Given the description of an element on the screen output the (x, y) to click on. 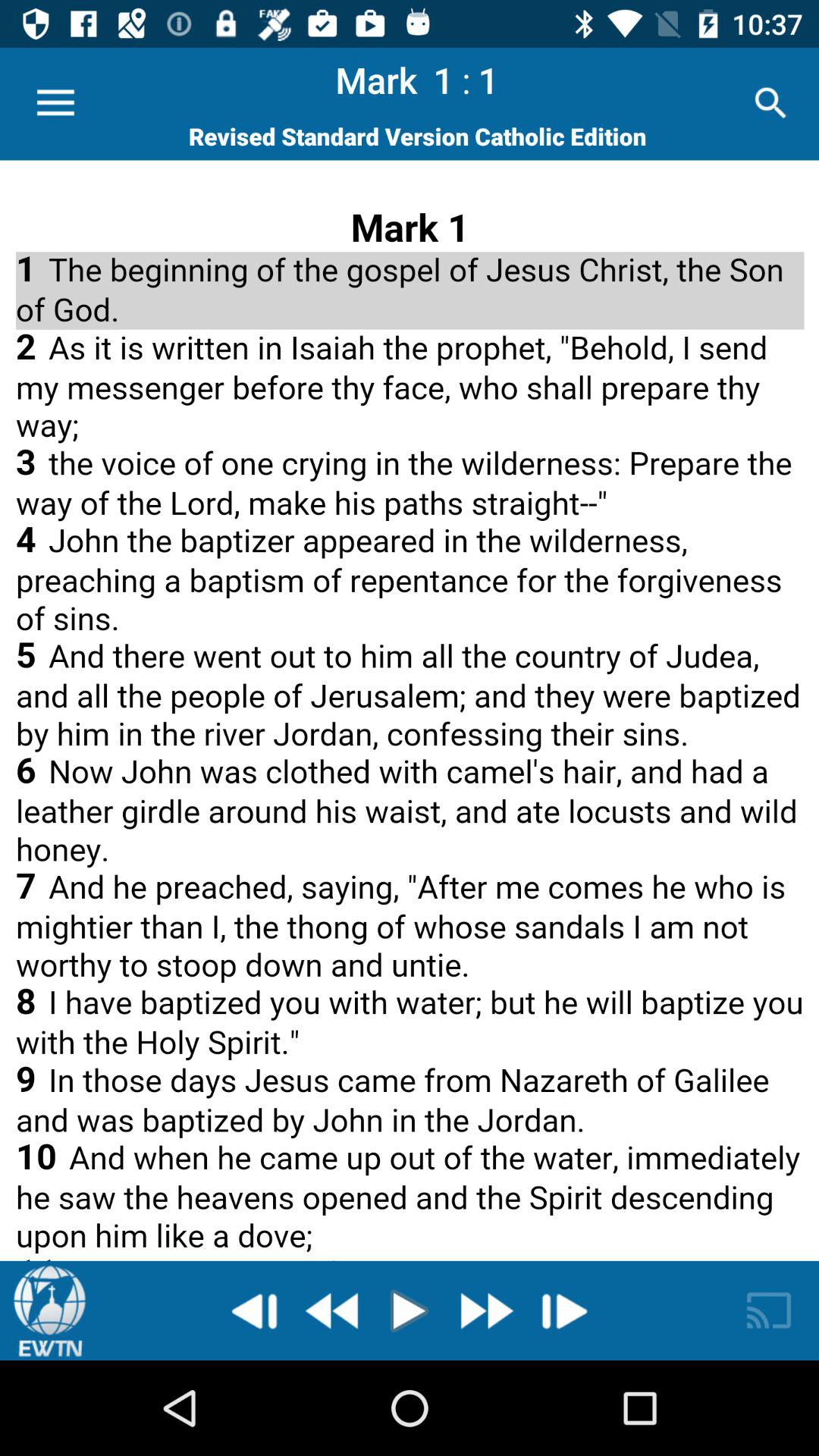
advertisement (409, 710)
